Given the description of an element on the screen output the (x, y) to click on. 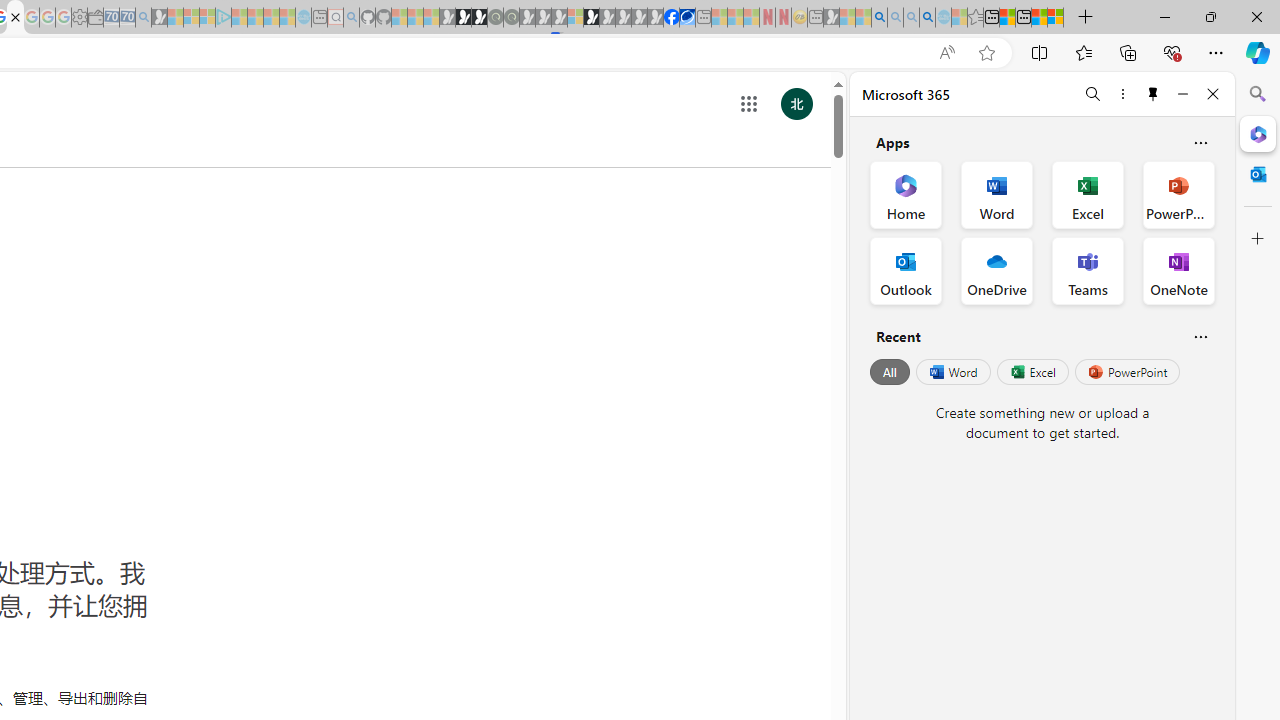
All (890, 372)
Teams Office App (1087, 270)
Excel Office App (1087, 194)
